Given the description of an element on the screen output the (x, y) to click on. 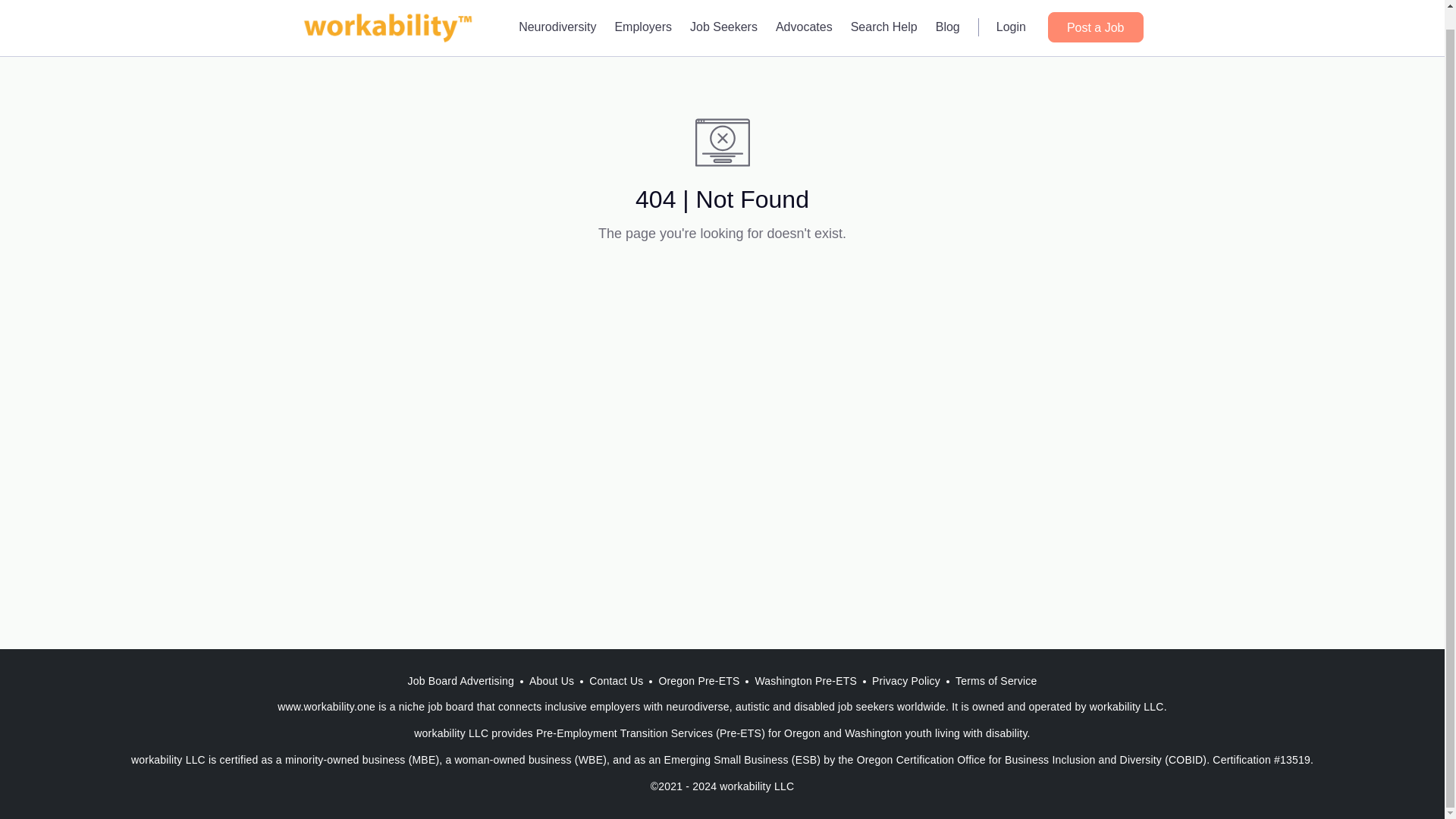
Neurodiversity (557, 13)
Post a Job (1095, 11)
Employers (643, 13)
Privacy Policy (905, 681)
Terms of Service (995, 681)
Advocates (804, 13)
Washington Pre-ETS (805, 681)
Job Board Advertising (460, 681)
Login (1011, 13)
Search Help (883, 13)
